Given the description of an element on the screen output the (x, y) to click on. 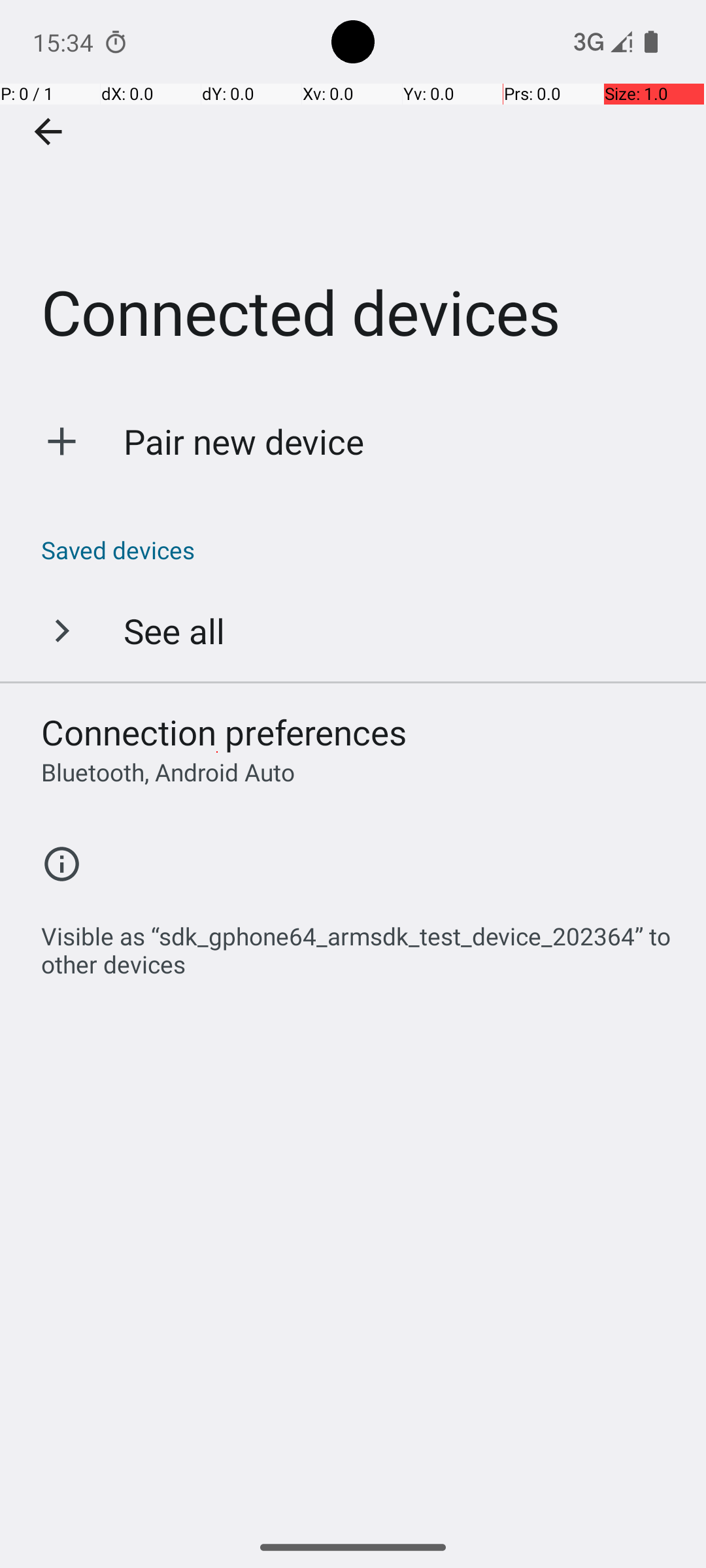
Visible as “sdk_gphone64_armsdk_test_device_202364” to other devices Element type: android.widget.TextView (359, 942)
